Given the description of an element on the screen output the (x, y) to click on. 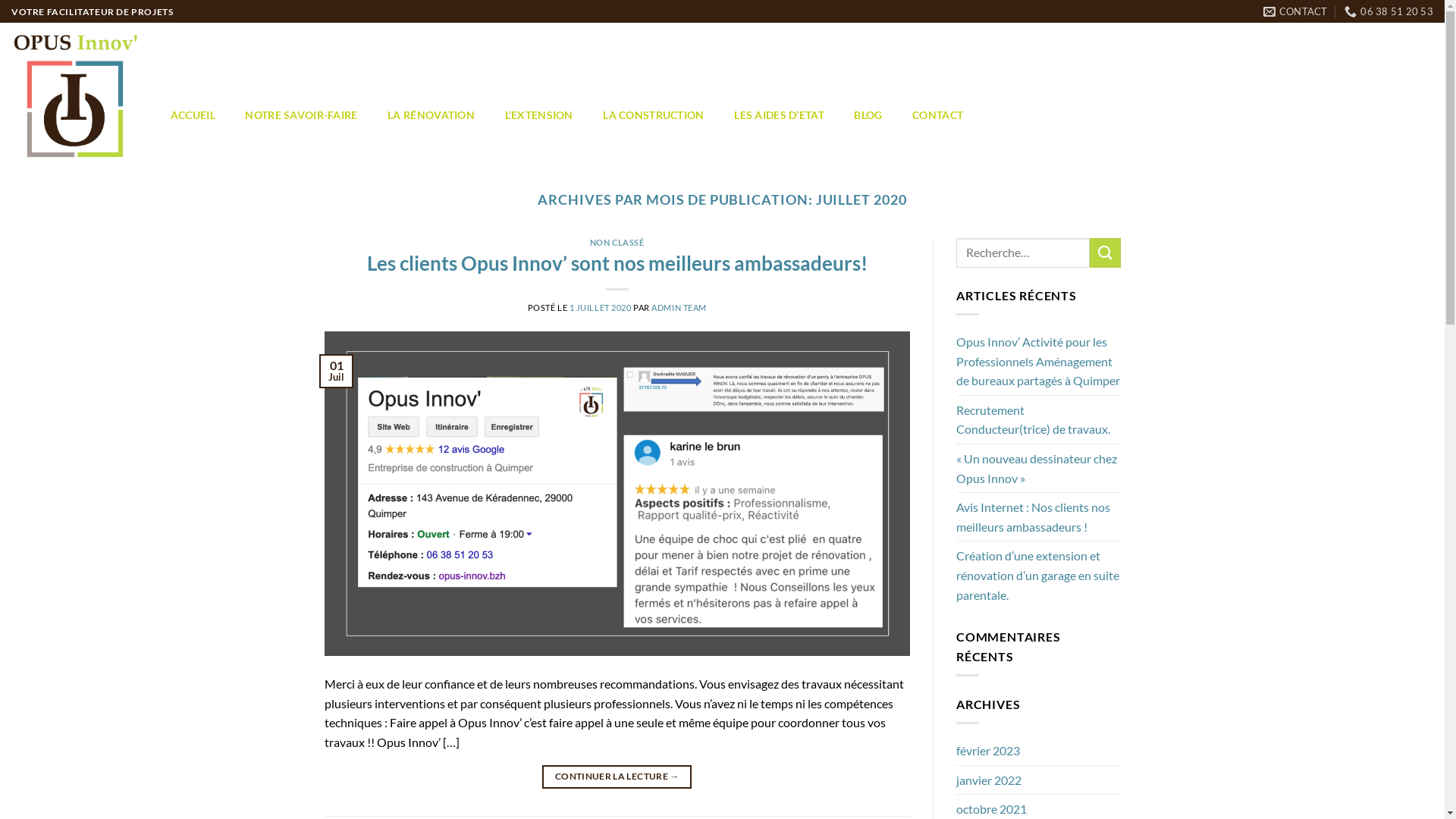
CONTACT Element type: text (1295, 11)
Skip to content Element type: text (0, 0)
Avis Internet : Nos clients nos meilleurs ambassadeurs ! Element type: text (1038, 516)
LA CONSTRUCTION Element type: text (653, 114)
CONTACT Element type: text (937, 114)
ACCUEIL Element type: text (192, 114)
1 JUILLET 2020 Element type: text (600, 307)
janvier 2022 Element type: text (988, 779)
NOTRE SAVOIR-FAIRE Element type: text (301, 114)
Recrutement Conducteur(trice) de travaux. Element type: text (1038, 419)
ADMIN TEAM Element type: text (678, 307)
BLOG Element type: text (868, 114)
06 38 51 20 53 Element type: text (1388, 11)
